Given the description of an element on the screen output the (x, y) to click on. 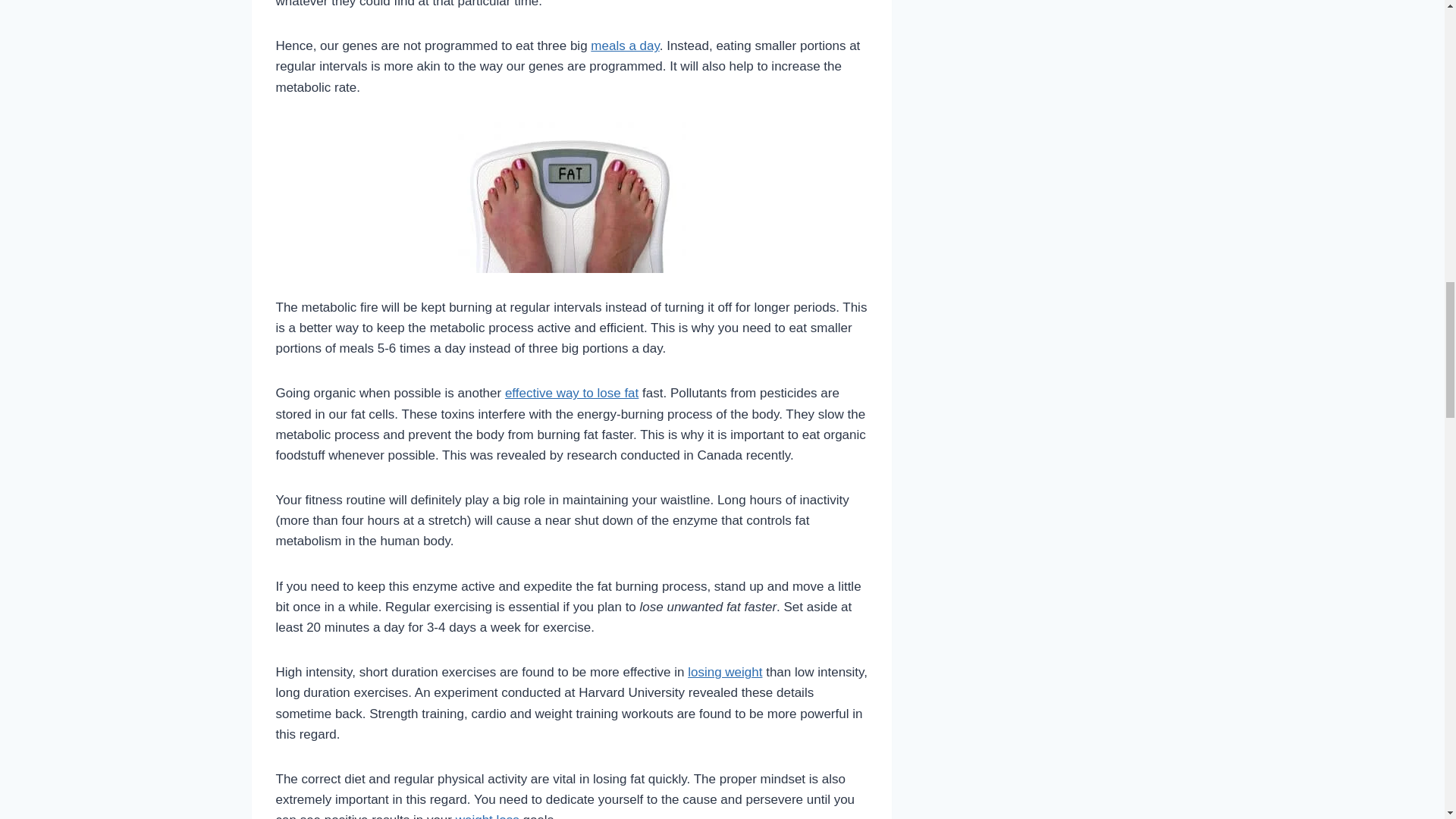
meals a day (625, 45)
weight loss (487, 816)
The Best Way To Burn Fat 2 (571, 197)
effective way to lose fat (572, 392)
losing weight (724, 672)
